Given the description of an element on the screen output the (x, y) to click on. 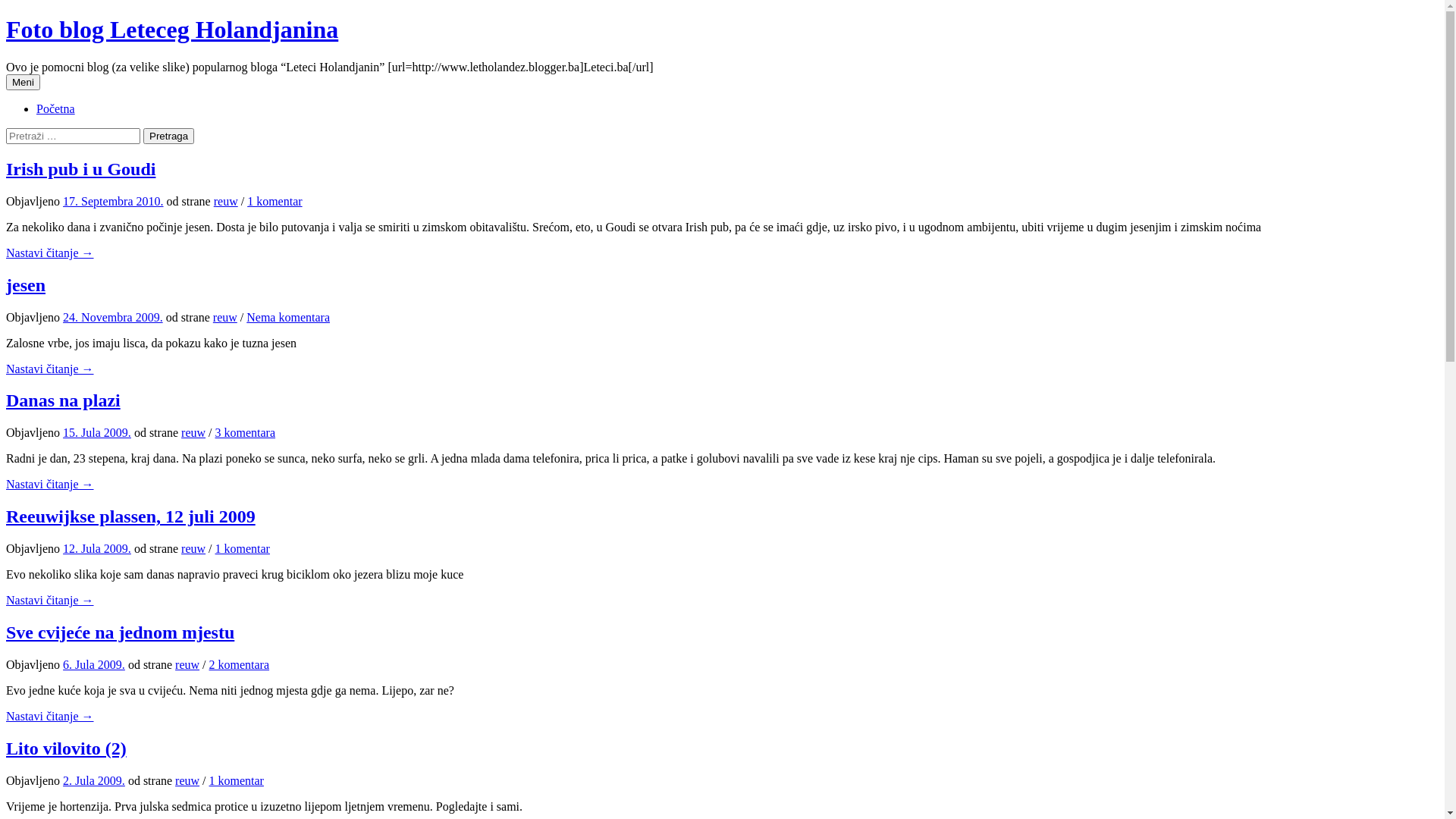
17. Septembra 2010. Element type: text (112, 200)
12. Jula 2009. Element type: text (96, 548)
Reeuwijkse plassen, 12 juli 2009 Element type: text (130, 516)
reuw Element type: text (187, 780)
1 komentar
na Irish pub i u Goudi Element type: text (274, 200)
jesen Element type: text (25, 284)
2. Jula 2009. Element type: text (93, 780)
Lito vilovito (2) Element type: text (66, 748)
3 komentara
za Danas na plazi Element type: text (245, 432)
Irish pub i u Goudi Element type: text (80, 168)
reuw Element type: text (193, 432)
reuw Element type: text (225, 316)
reuw Element type: text (225, 200)
15. Jula 2009. Element type: text (96, 432)
Pretraga Element type: text (168, 136)
reuw Element type: text (187, 664)
Nema komentara
na jesen Element type: text (287, 316)
1 komentar
na Reeuwijkse plassen, 12 juli 2009 Element type: text (242, 548)
6. Jula 2009. Element type: text (93, 664)
Danas na plazi Element type: text (63, 400)
reuw Element type: text (193, 548)
1 komentar
na Lito vilovito (2) Element type: text (236, 780)
Foto blog Leteceg Holandjanina Element type: text (172, 29)
24. Novembra 2009. Element type: text (112, 316)
Meni Element type: text (23, 82)
